Given the description of an element on the screen output the (x, y) to click on. 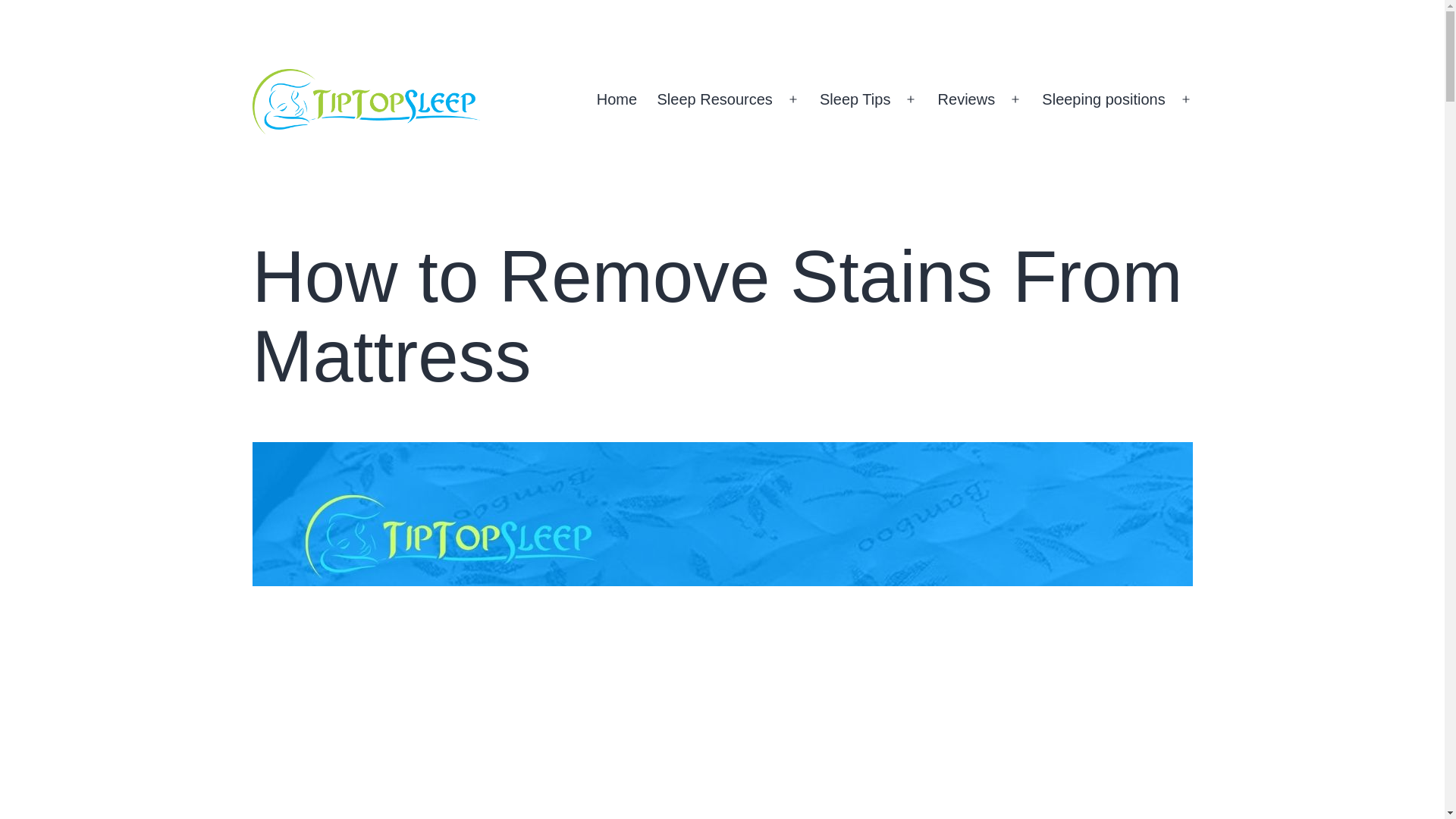
Sleep Tips (855, 99)
Home (616, 99)
Reviews (965, 99)
Sleep Resources (714, 99)
